Given the description of an element on the screen output the (x, y) to click on. 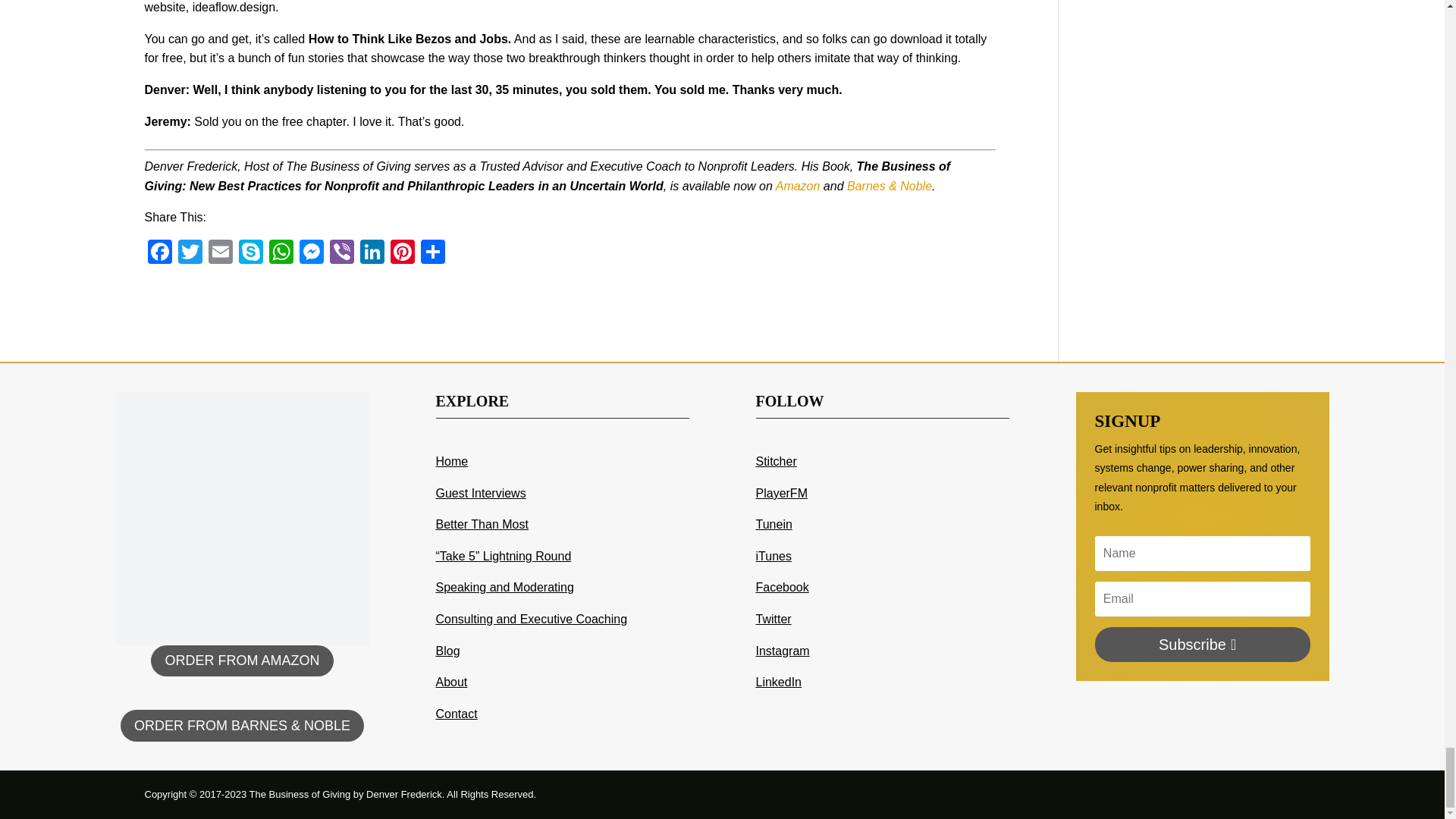
Facebook (159, 253)
Facebook (159, 253)
Skype (249, 253)
LinkedIn (371, 253)
Twitter (189, 253)
Pinterest (401, 253)
Email (219, 253)
Viber (341, 253)
Messenger (310, 253)
Amazon (798, 185)
